Given the description of an element on the screen output the (x, y) to click on. 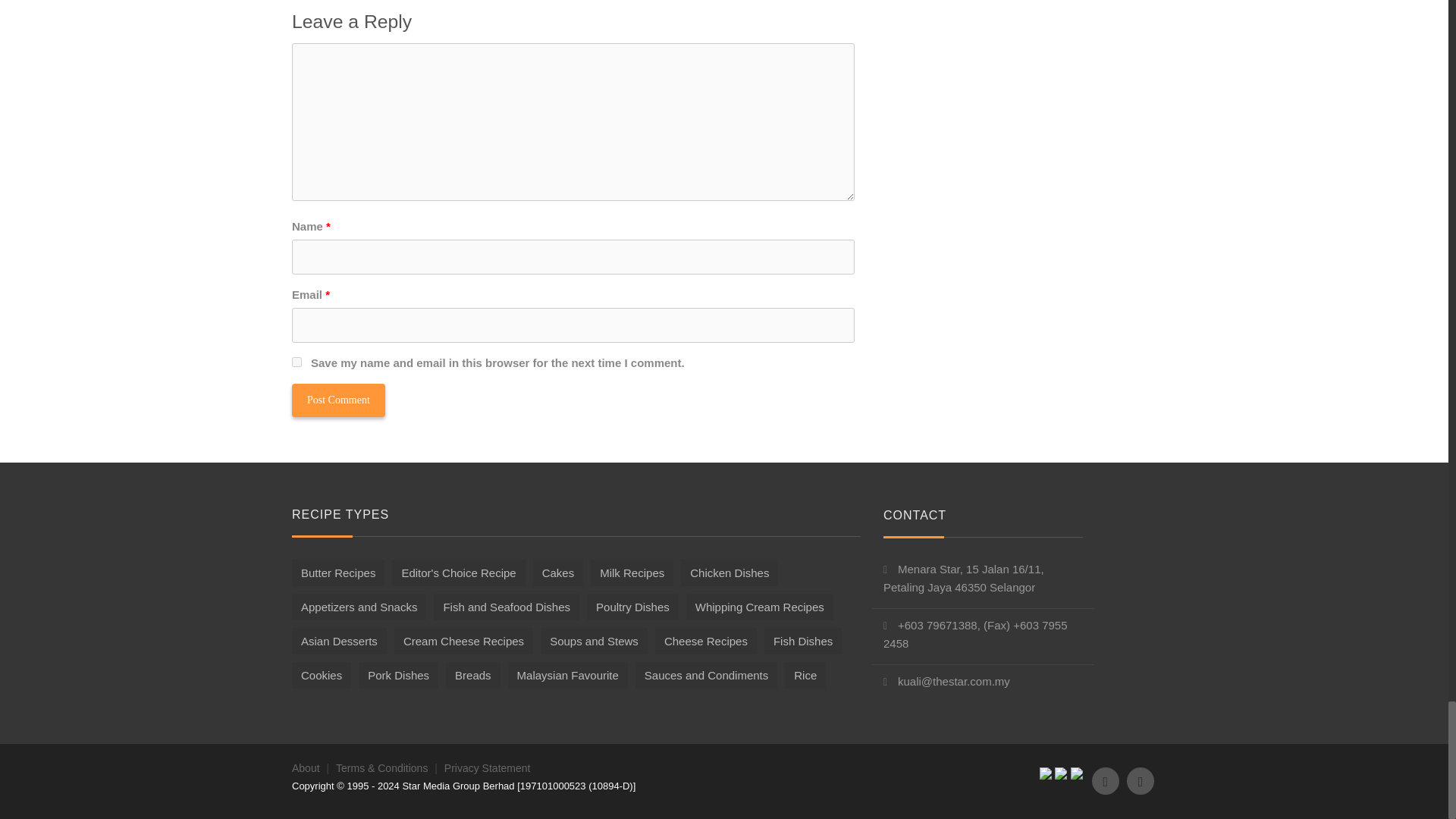
yes (296, 361)
Post Comment (338, 400)
